Given the description of an element on the screen output the (x, y) to click on. 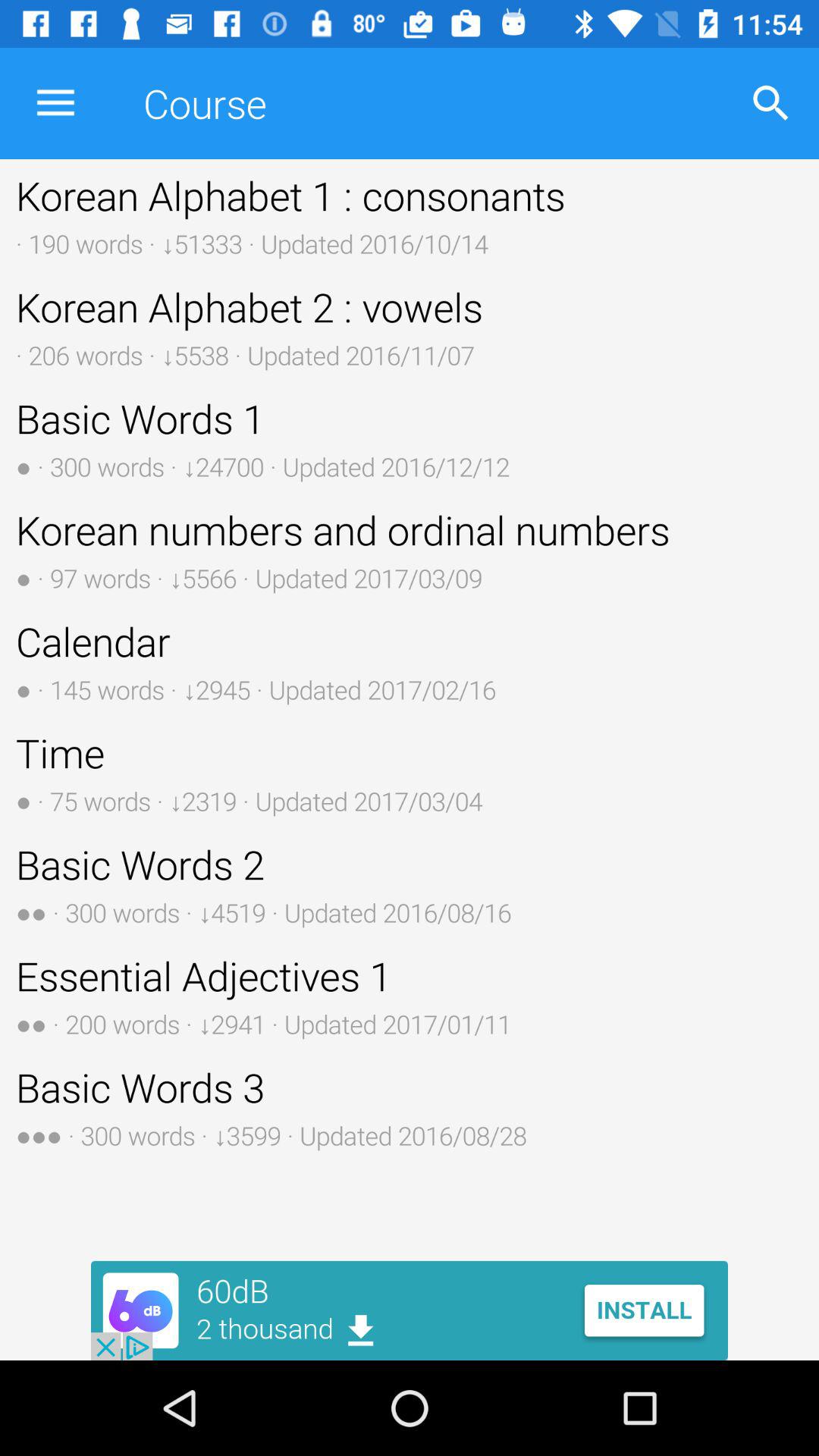
advertisement bar (409, 1310)
